Given the description of an element on the screen output the (x, y) to click on. 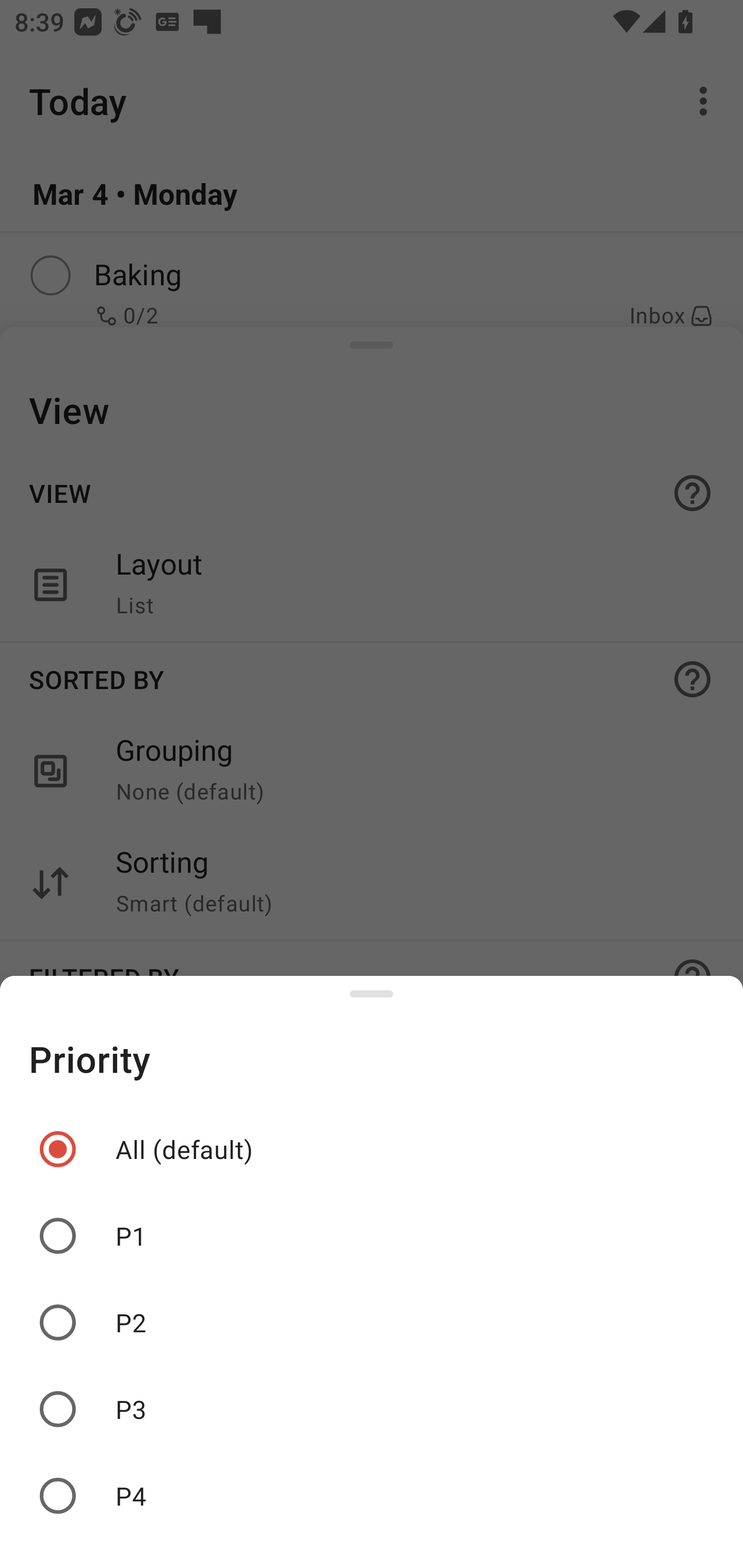
All (default) (371, 1149)
P1 (371, 1236)
P2 (371, 1322)
P3 (371, 1408)
P4 (371, 1495)
